Given the description of an element on the screen output the (x, y) to click on. 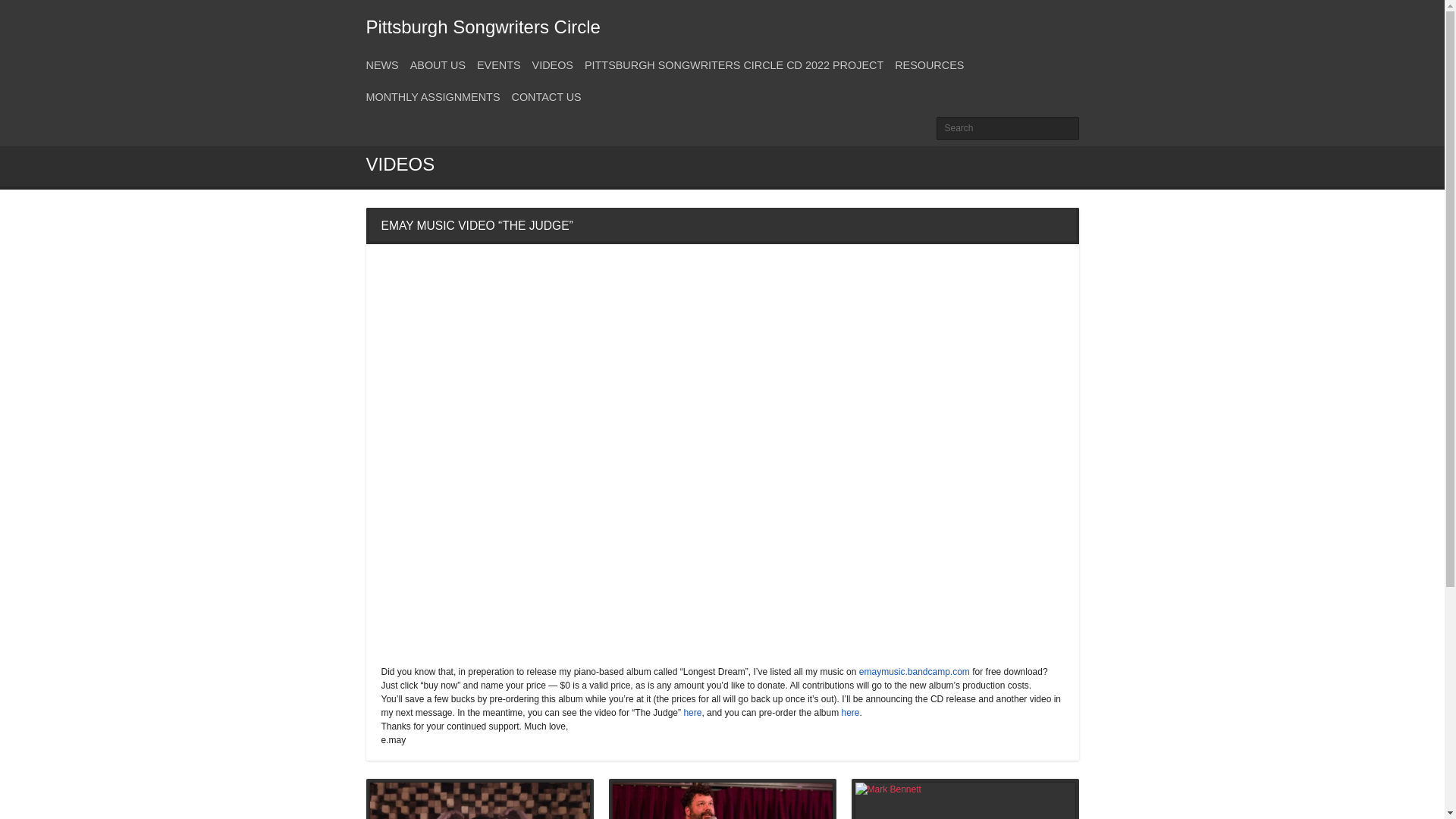
PITTSBURGH SONGWRITERS CIRCLE CD 2022 PROJECT (734, 65)
MONTHLY ASSIGNMENTS (432, 97)
EVENTS (499, 65)
Mark Bennett Playing his Way Too Late (965, 800)
NEWS (381, 65)
Search (1007, 128)
here (691, 712)
emaymusic.bandcamp.com (914, 671)
CONTACT US (545, 97)
here (850, 712)
